Given the description of an element on the screen output the (x, y) to click on. 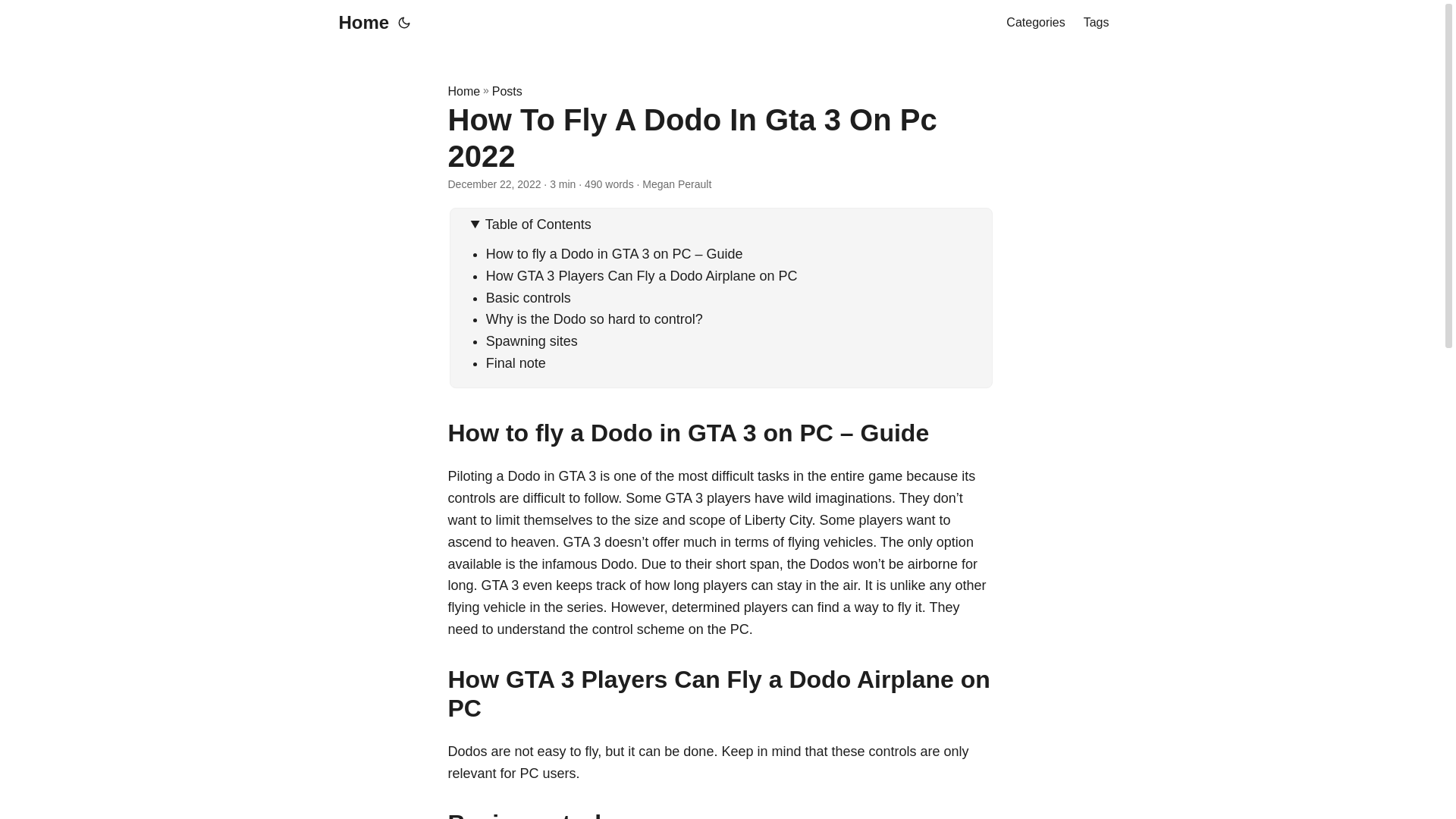
How GTA 3 Players Can Fly a Dodo Airplane on PC (641, 275)
Why is the Dodo so hard to control? (594, 319)
Posts (507, 91)
Basic controls (528, 297)
Final note (516, 363)
Spawning sites (532, 340)
Categories (1035, 22)
Home (359, 22)
Categories (1035, 22)
Home (463, 91)
